Given the description of an element on the screen output the (x, y) to click on. 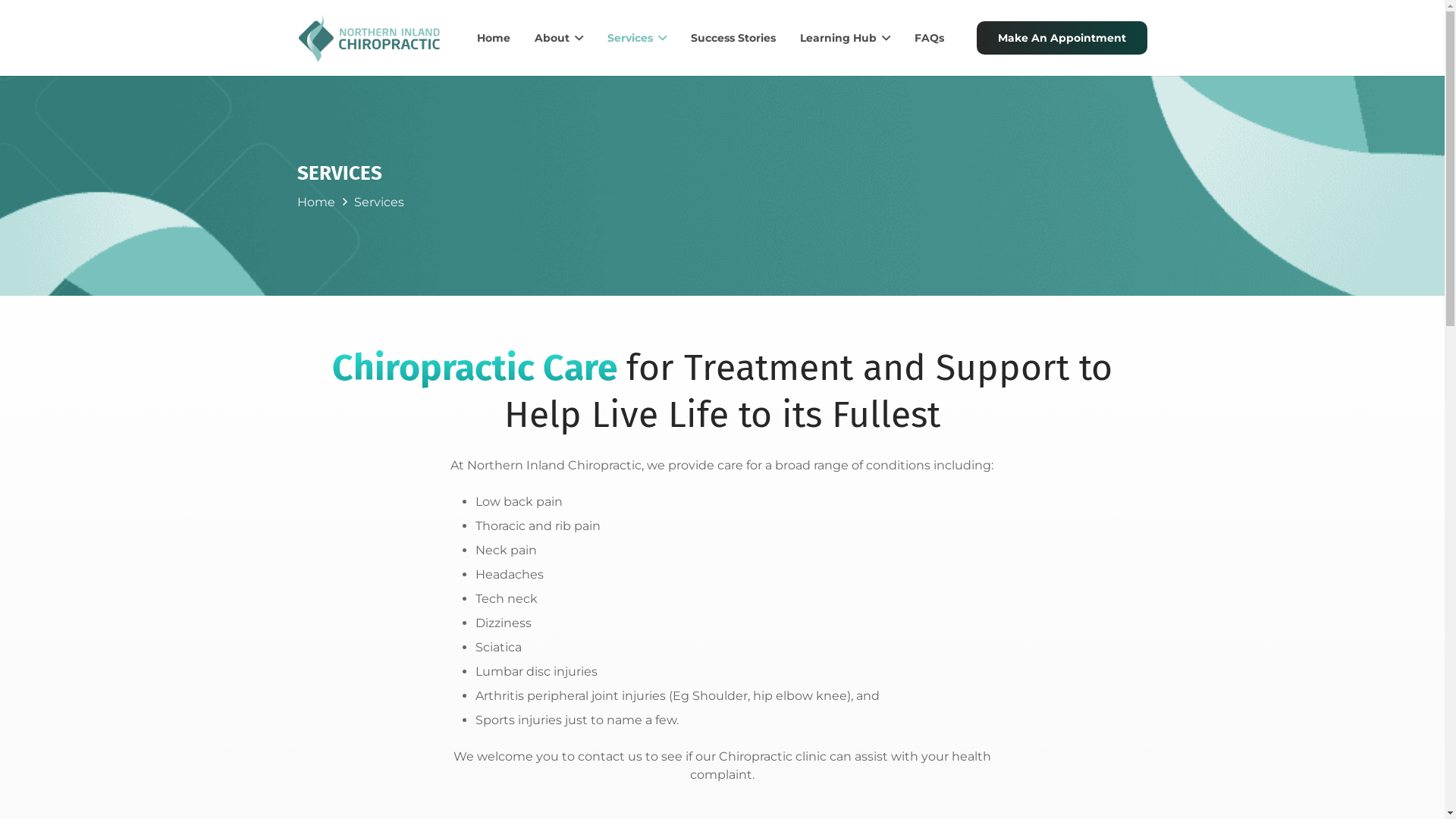
Learning Hub Element type: text (844, 37)
Home Element type: text (316, 201)
About Element type: text (558, 37)
Services Element type: text (379, 201)
Home Element type: text (493, 37)
Success Stories Element type: text (732, 37)
Make An Appointment Element type: text (1061, 37)
FAQs Element type: text (929, 37)
Services Element type: text (636, 37)
